Given the description of an element on the screen output the (x, y) to click on. 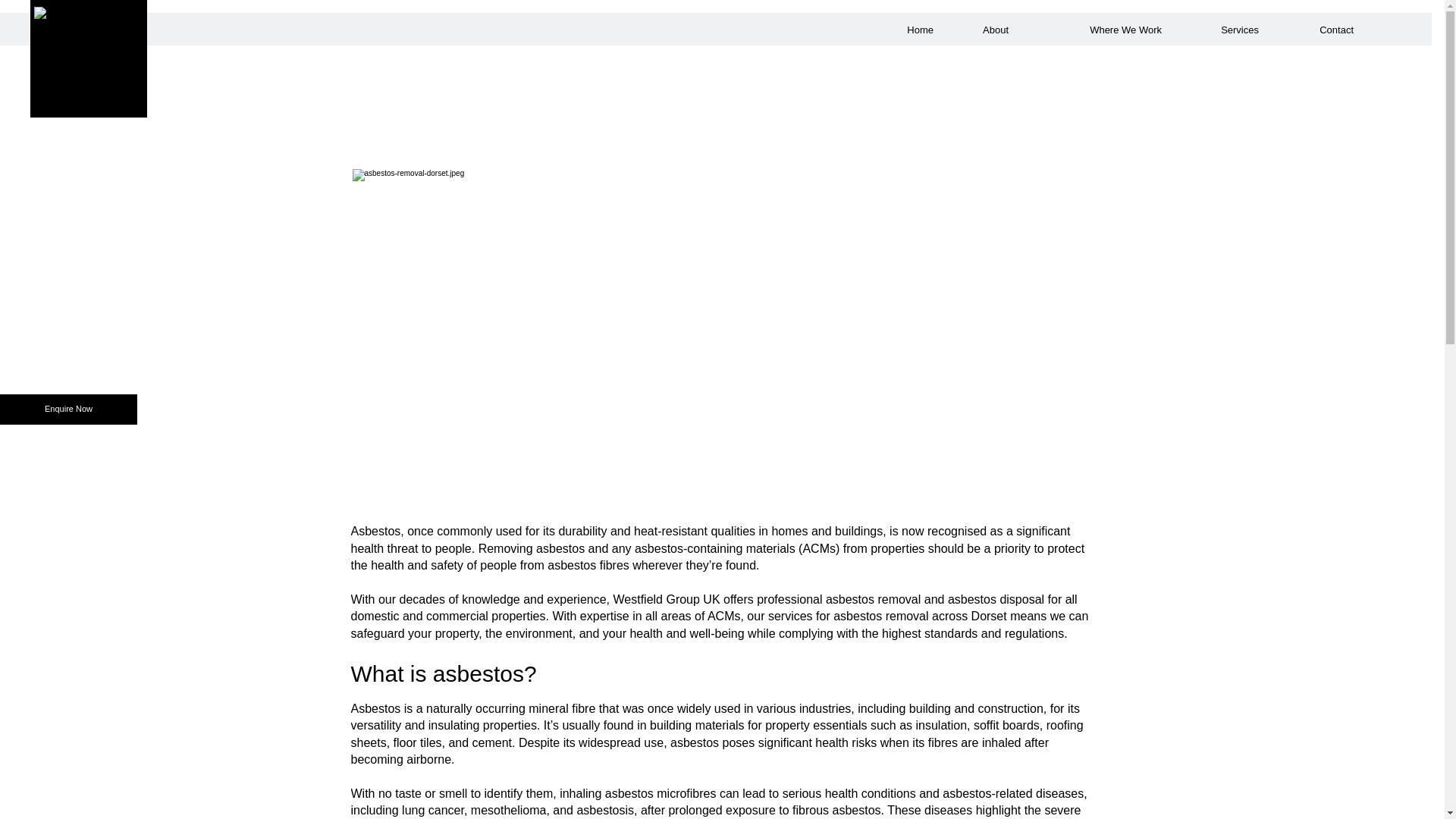
About (982, 30)
Contact (1317, 30)
Enquire Now (68, 409)
Where We Work (1096, 30)
Home (911, 30)
Services (1221, 30)
